Given the description of an element on the screen output the (x, y) to click on. 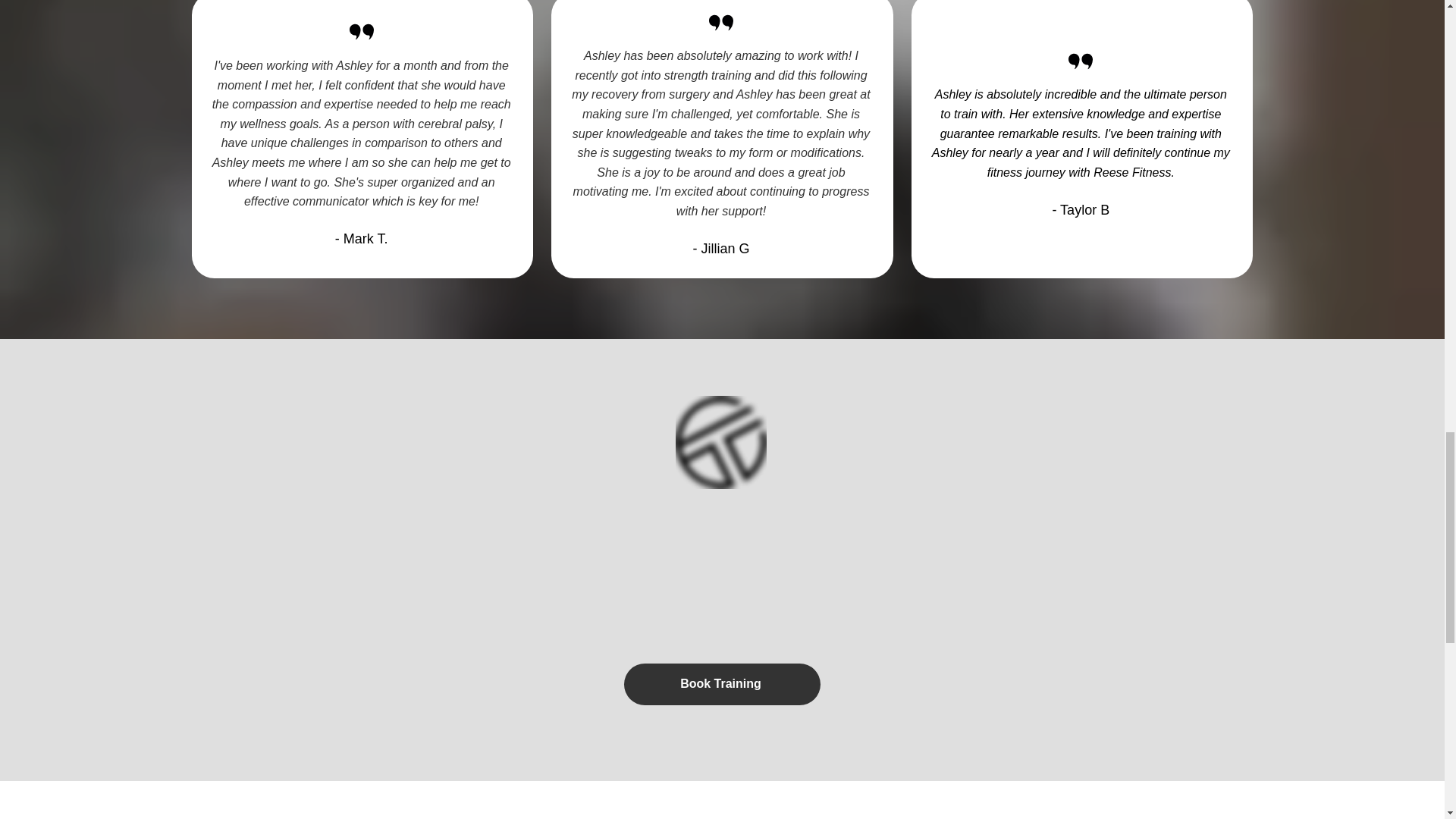
Book Training (722, 684)
